Given the description of an element on the screen output the (x, y) to click on. 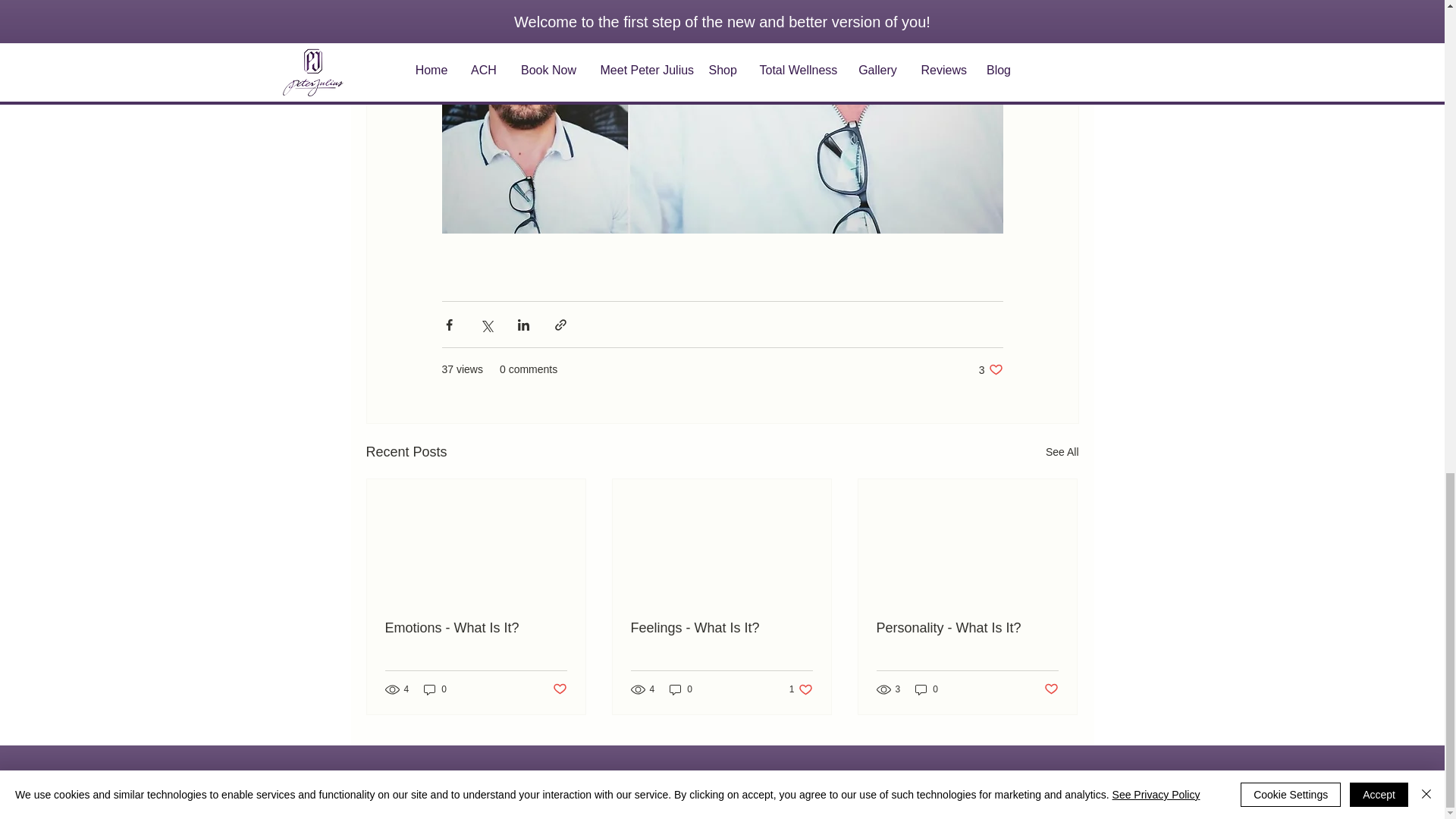
Feelings - What Is It? (721, 627)
0 (681, 689)
Post not marked as liked (1050, 688)
Emotions - What Is It? (476, 627)
Post not marked as liked (558, 688)
Personality - What Is It? (800, 689)
0 (967, 627)
See All (926, 689)
0 (1061, 452)
